Given the description of an element on the screen output the (x, y) to click on. 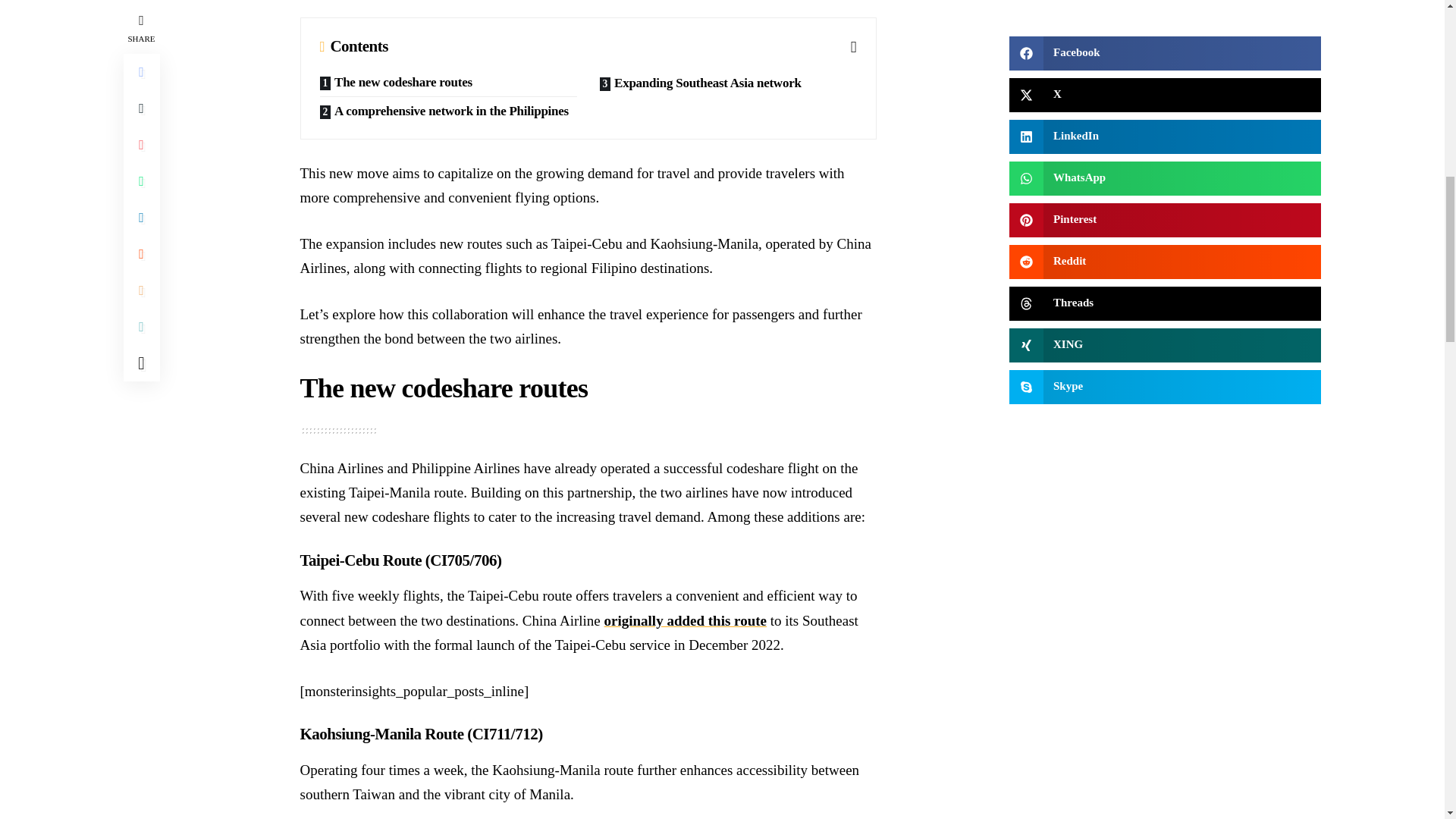
originally added this route (685, 620)
The new codeshare routes (448, 81)
Expanding Southeast Asia network (727, 82)
A comprehensive network in the Philippines (448, 110)
